Given the description of an element on the screen output the (x, y) to click on. 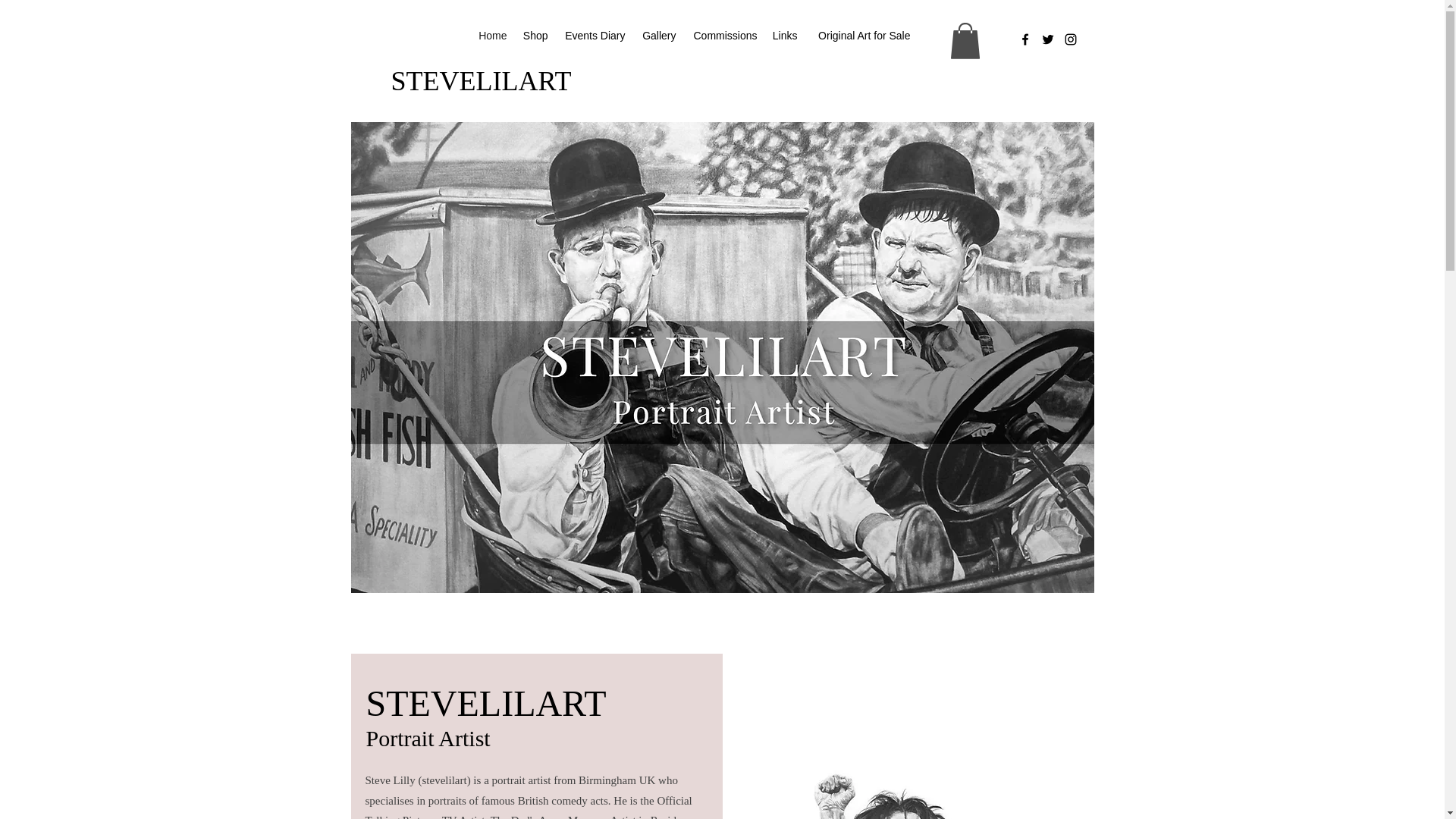
Links (784, 35)
Commissions (724, 35)
Shop (533, 35)
STEVELILART (480, 81)
Home (492, 35)
Gallery (656, 35)
Events Diary (592, 35)
Original Art for Sale (861, 35)
